Given the description of an element on the screen output the (x, y) to click on. 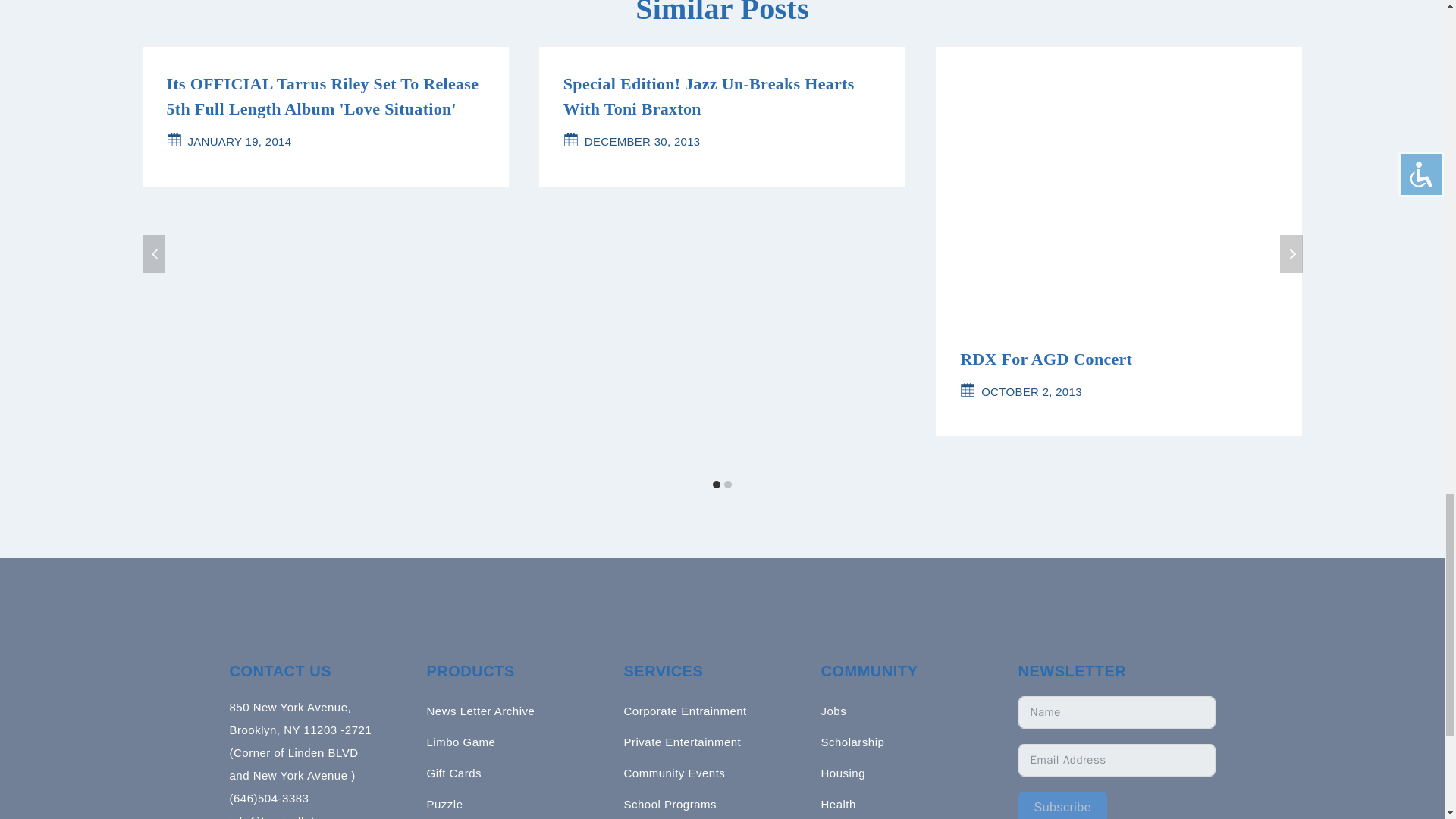
Special Edition! Jazz Un-Breaks Hearts With Toni Braxton (708, 95)
RDX For AGD Concert (1045, 358)
